Given the description of an element on the screen output the (x, y) to click on. 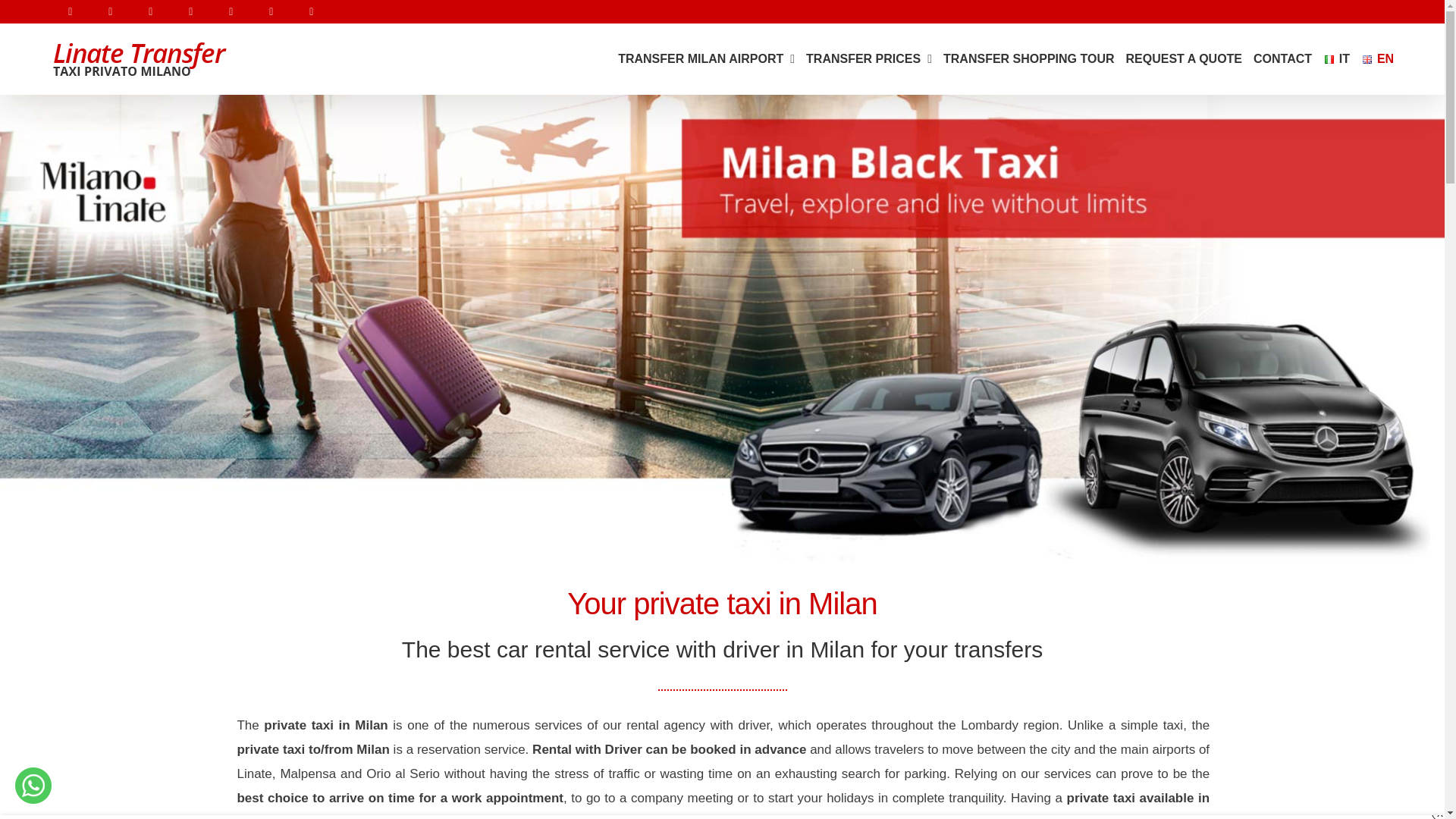
REQUEST A QUOTE (1184, 58)
Telefono (70, 11)
Scrivici su WhatsApp (32, 785)
E-mail (110, 11)
TRANSFER MILAN AIRPORT (705, 58)
TRANSFER SHOPPING TOUR (1029, 58)
TRANSFER PRICES (868, 58)
